Given the description of an element on the screen output the (x, y) to click on. 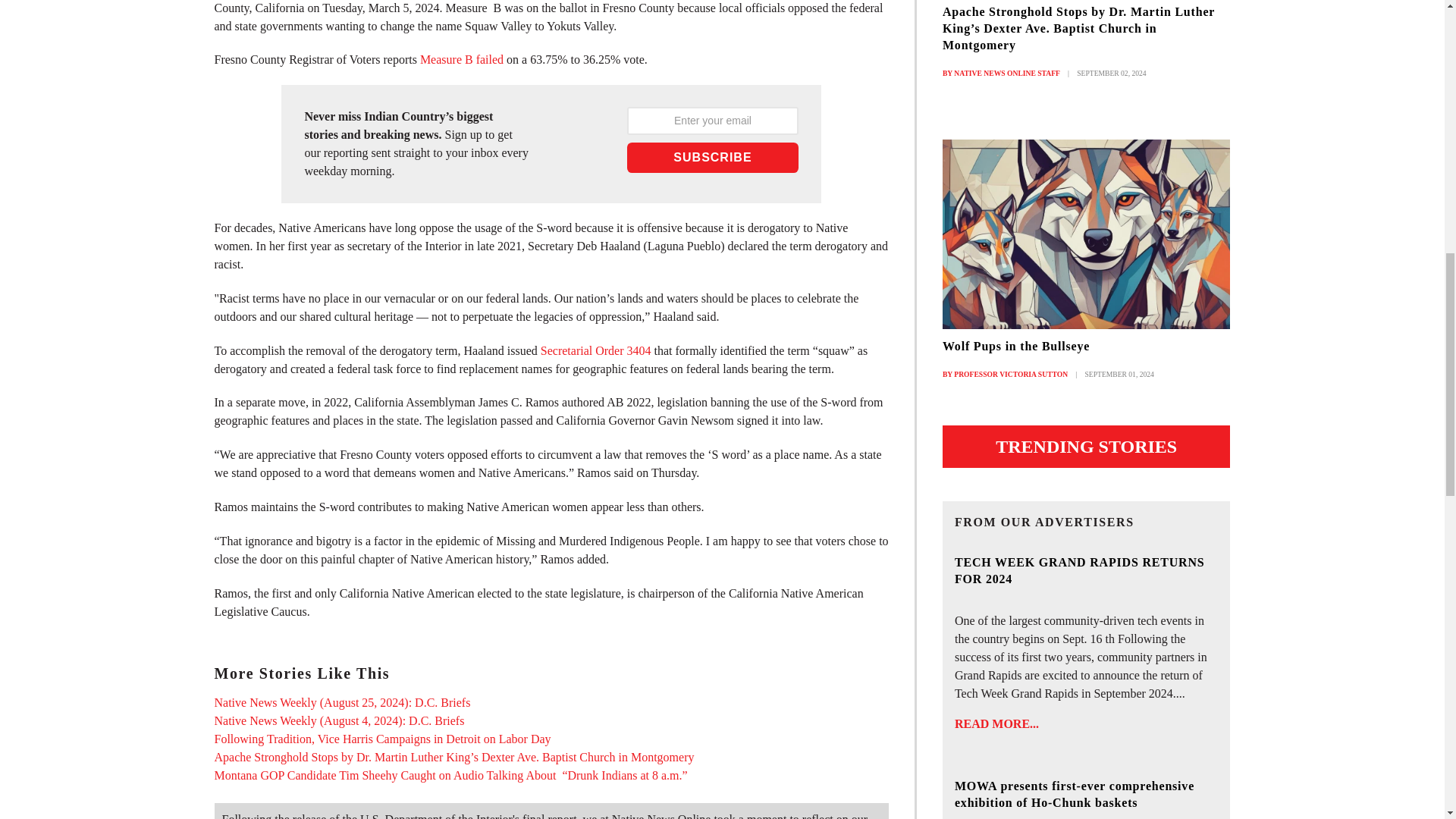
Secretarial Order 3404 (593, 350)
Subscribe (712, 157)
Subscribe (712, 157)
Measure B failed (461, 59)
